Given the description of an element on the screen output the (x, y) to click on. 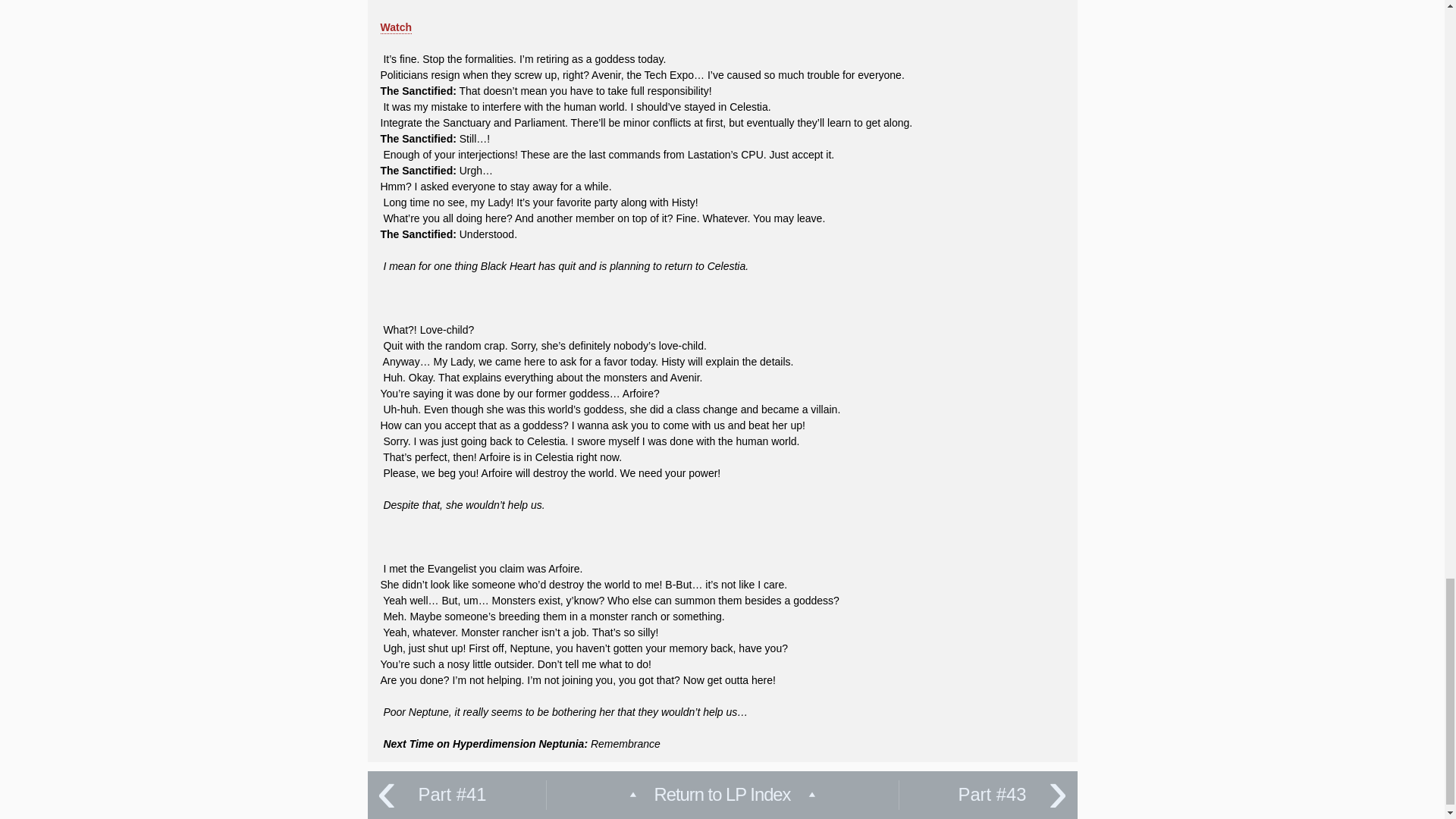
Watch (396, 35)
